Given the description of an element on the screen output the (x, y) to click on. 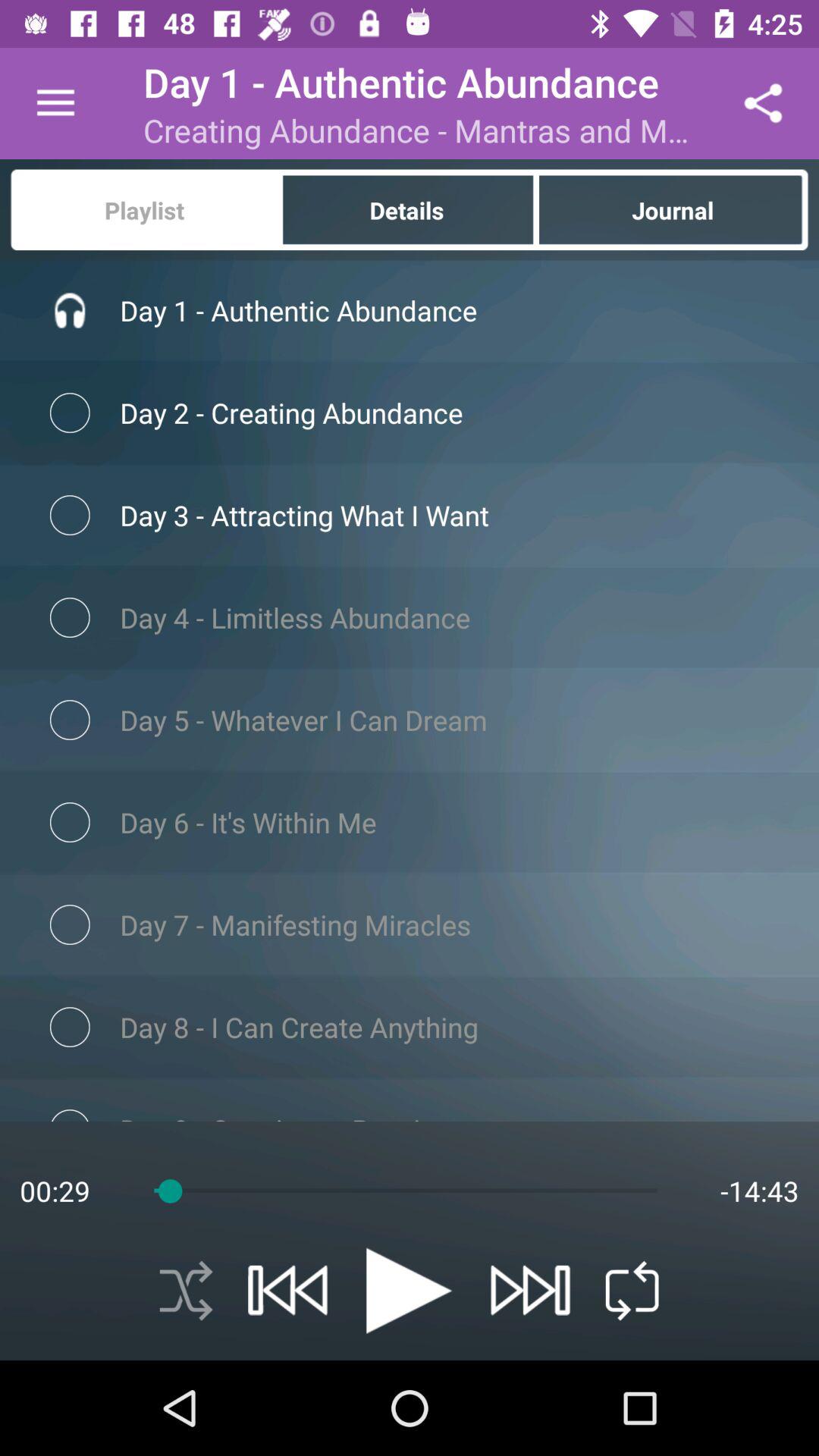
press item below creating abundance mantras item (407, 209)
